Given the description of an element on the screen output the (x, y) to click on. 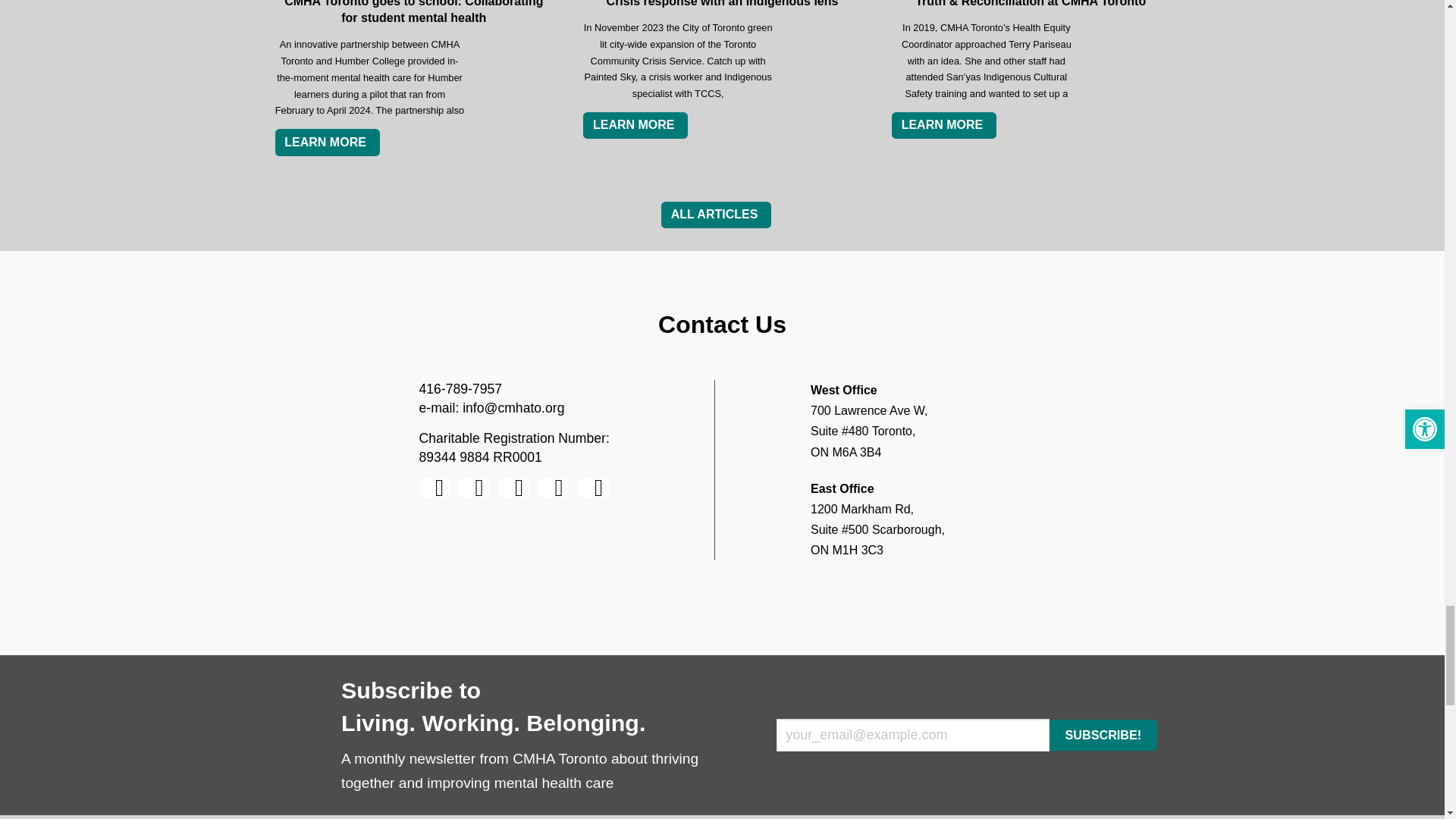
Subscribe! (1103, 735)
